Given the description of an element on the screen output the (x, y) to click on. 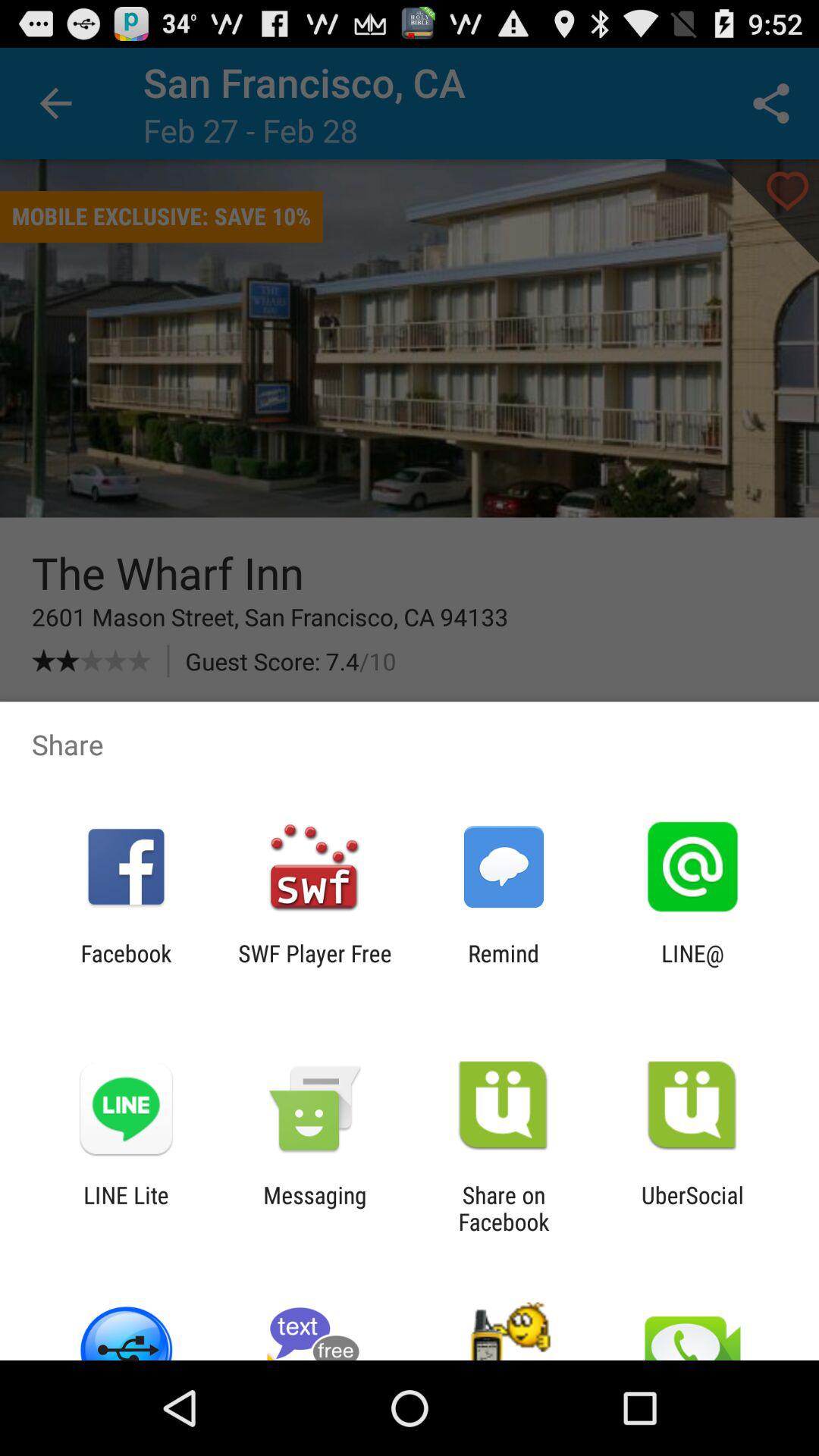
swipe until swf player free icon (314, 966)
